Given the description of an element on the screen output the (x, y) to click on. 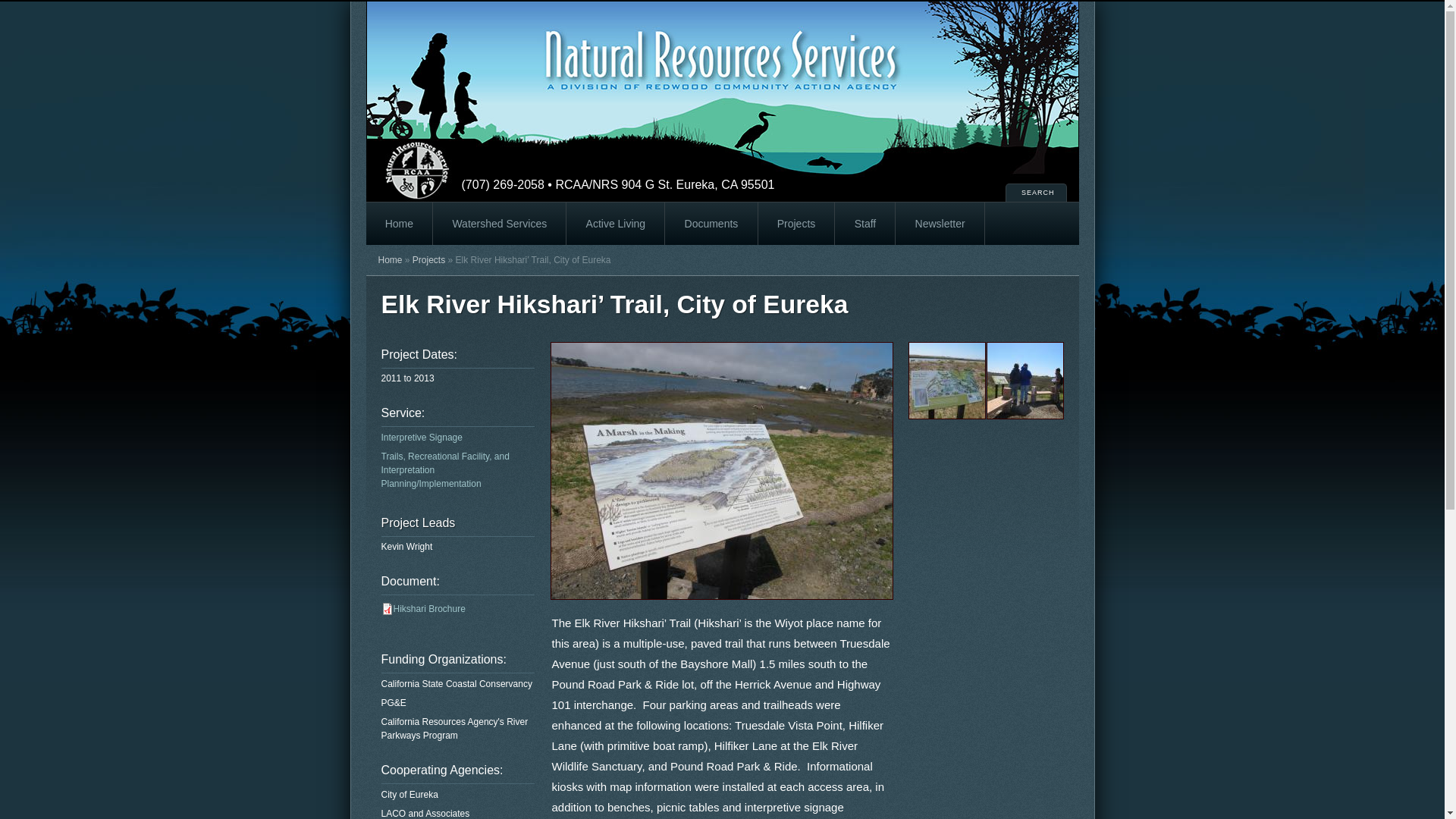
Projects (428, 259)
Home (398, 223)
Hikshari Brochure (428, 608)
Home (721, 64)
SEARCH (1036, 192)
Staff (864, 223)
Skip to navigation (21, 1)
Interpretive Signage (420, 437)
Newsletter (940, 223)
